Given the description of an element on the screen output the (x, y) to click on. 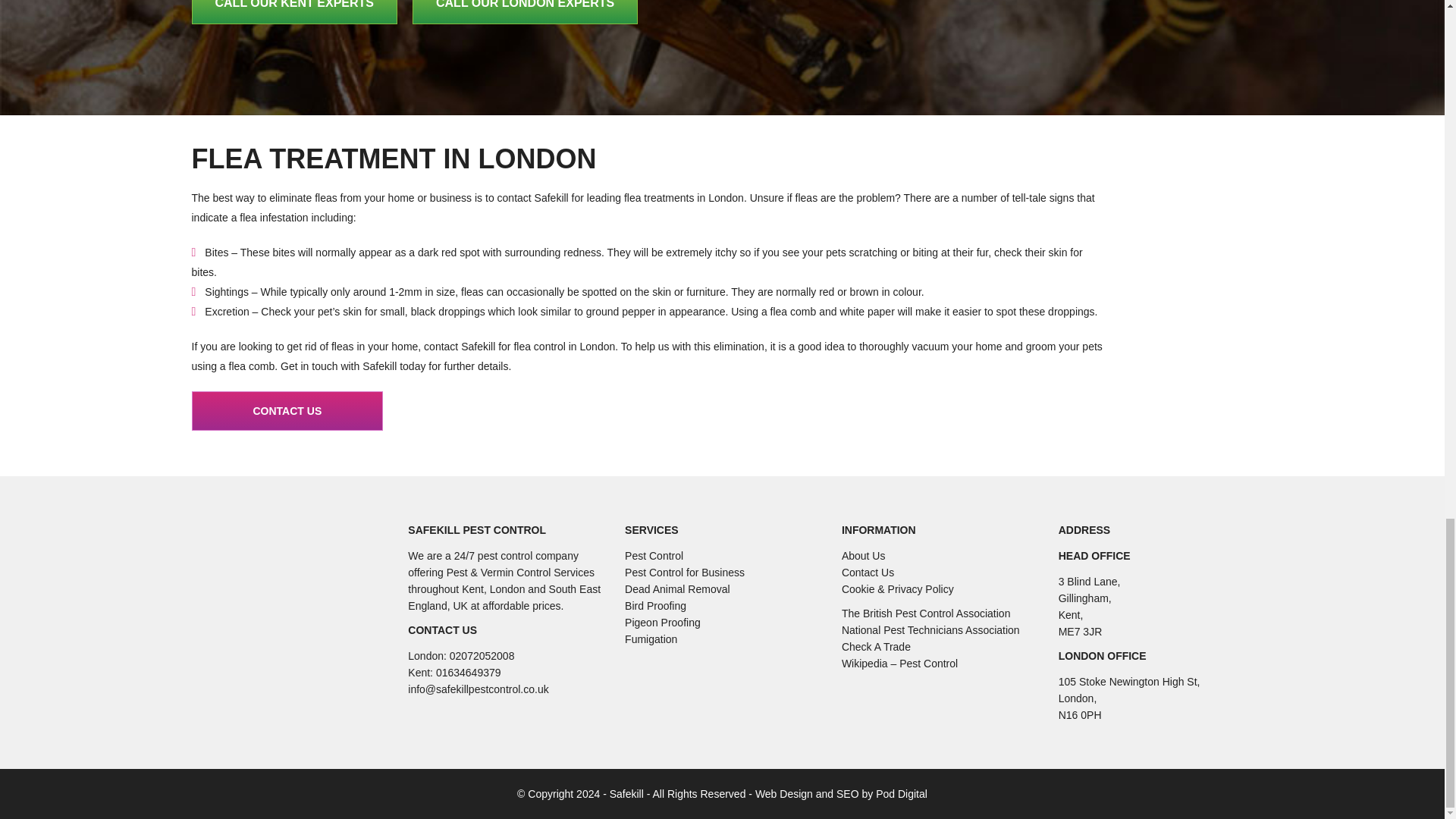
Web Design (783, 793)
SEO (847, 793)
Call Us Today (524, 12)
Contact Us (286, 410)
Call Us Today (293, 12)
